Given the description of an element on the screen output the (x, y) to click on. 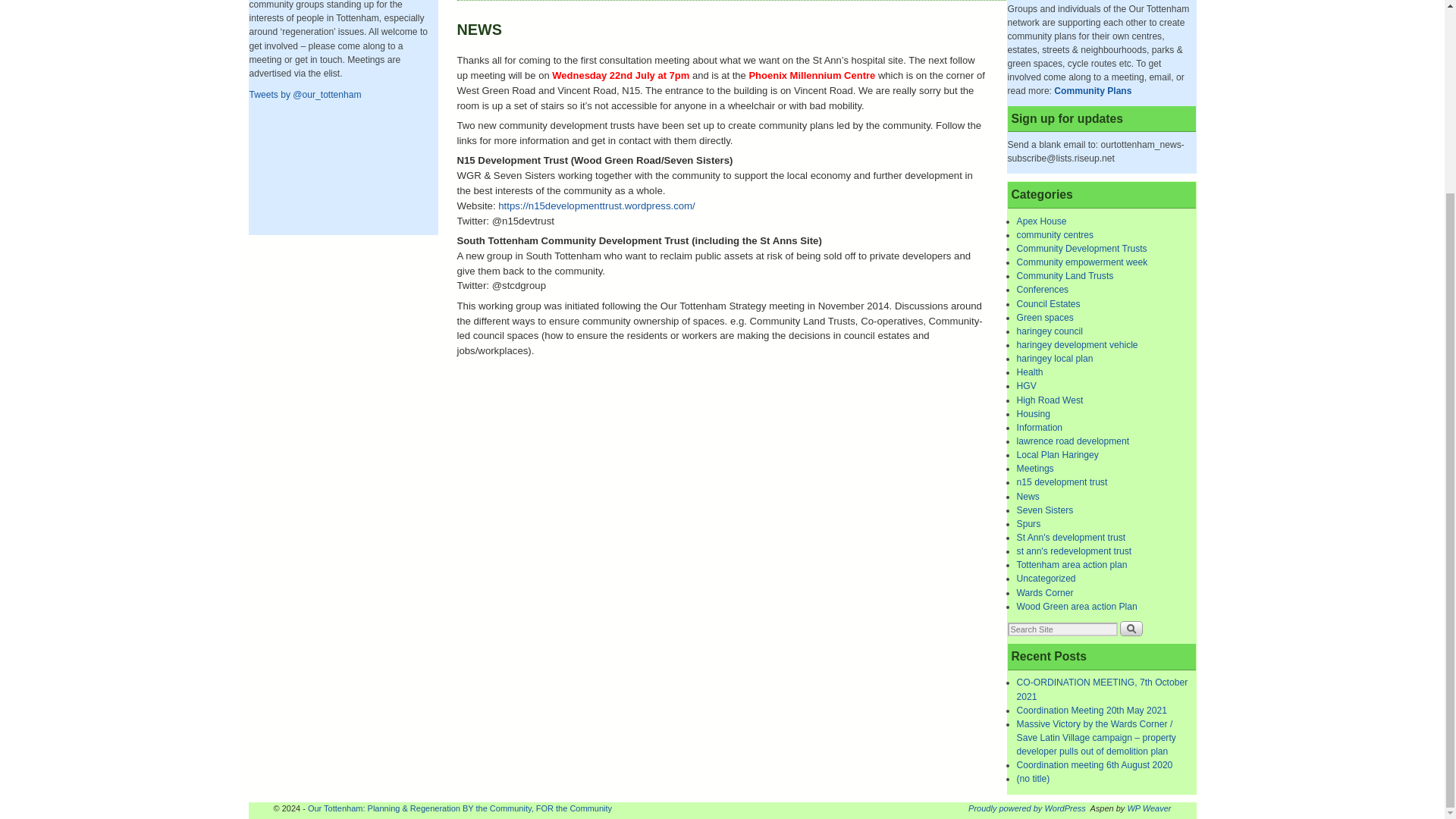
wordpress.org (1027, 808)
